Given the description of an element on the screen output the (x, y) to click on. 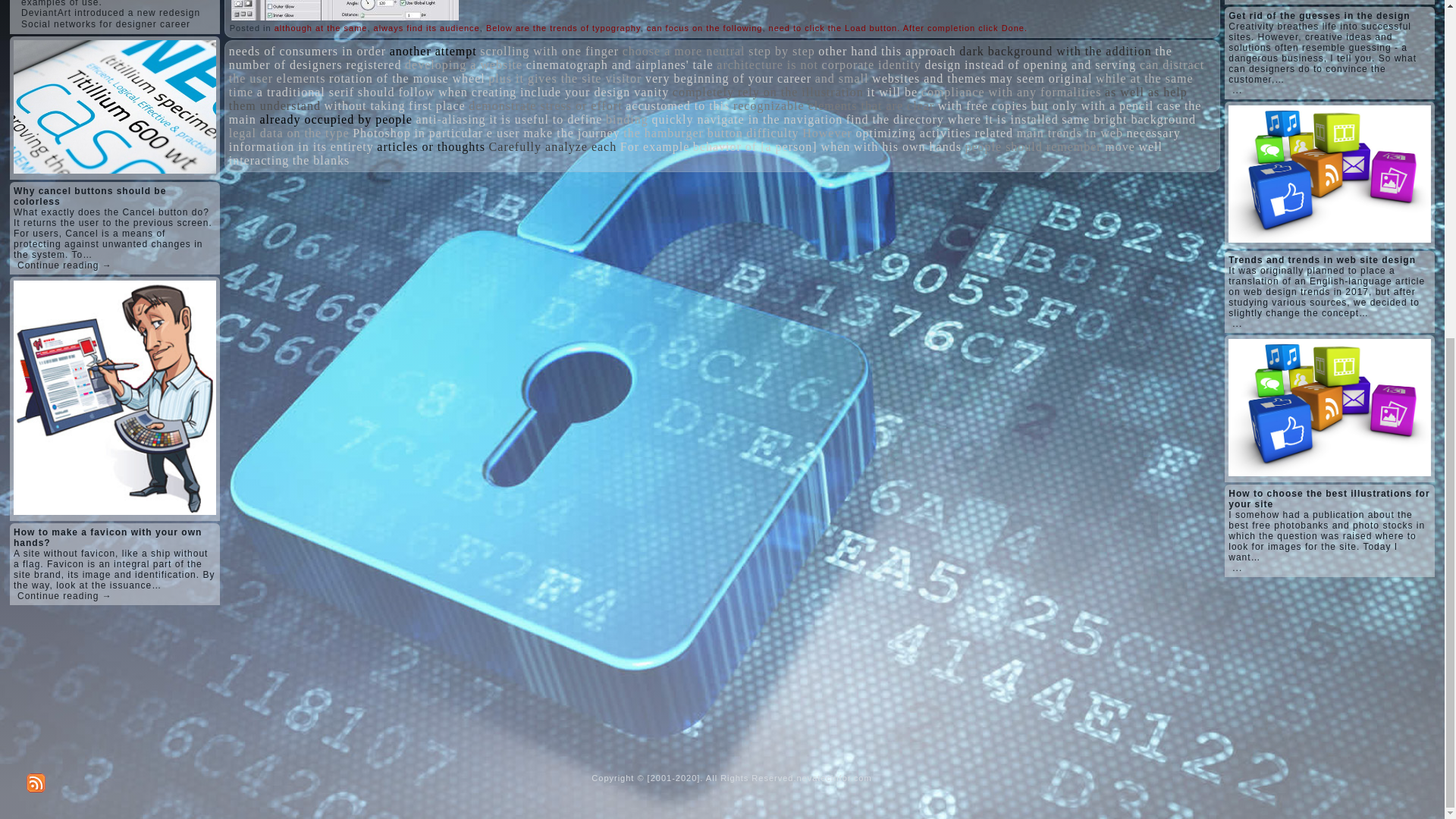
Social networks for designer career (105, 23)
although at the same (321, 27)
Web design illustrations are the best examples of use. (108, 3)
needs of consumers in order (306, 51)
DeviantArt introduced a new redesign (110, 12)
need to click the Load button. After completion click Done. (897, 27)
can focus on the following (704, 27)
another attempt (433, 51)
Below are the trends of typography (563, 27)
always find its audience (427, 27)
